Given the description of an element on the screen output the (x, y) to click on. 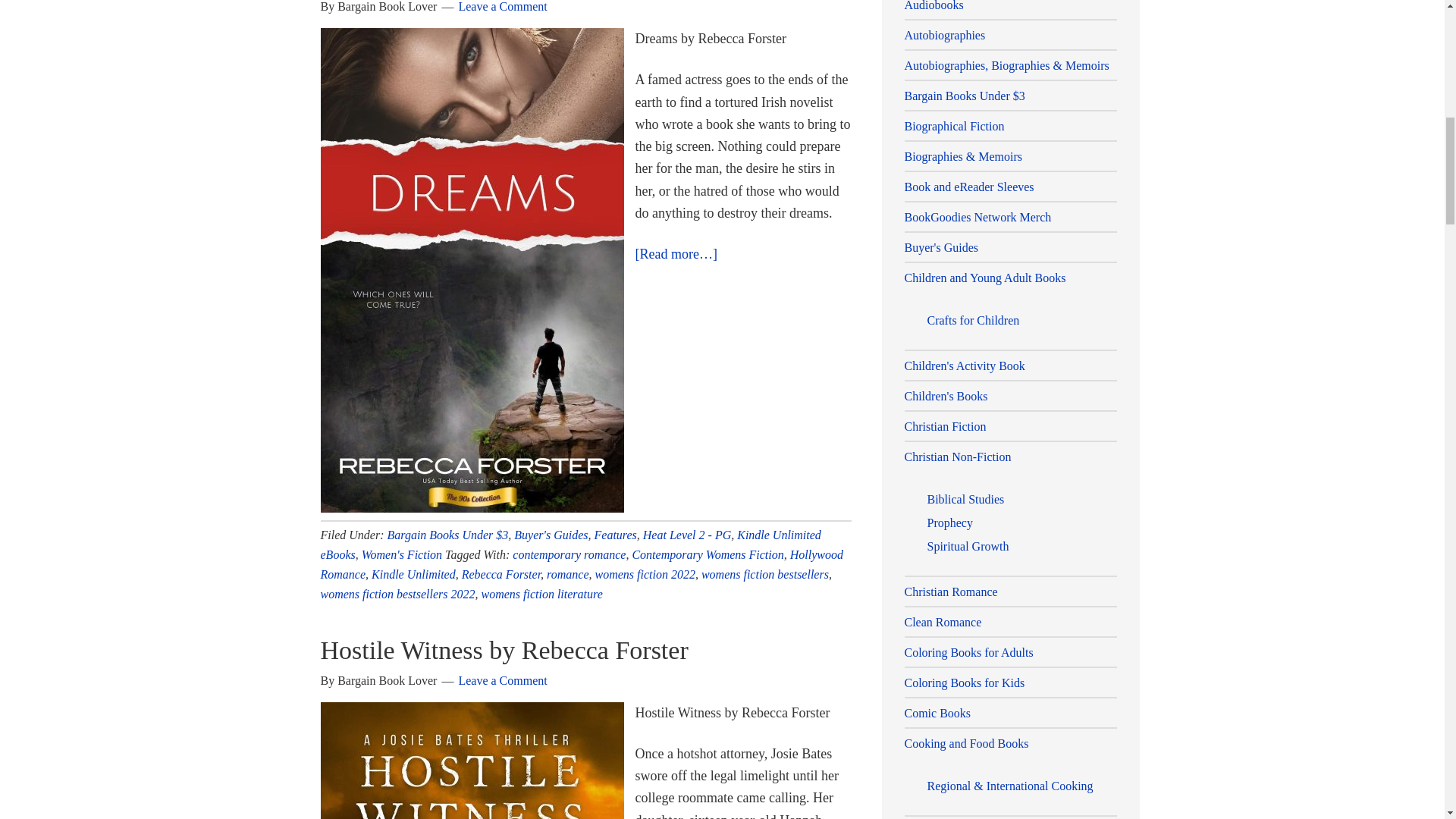
Contemporary Womens Fiction (707, 554)
Women's Fiction (401, 554)
Hollywood Romance (581, 563)
Heat Level 2 - PG (686, 534)
contemporary romance (569, 554)
Buyer's Guides (550, 534)
Kindle Unlimited (413, 574)
Leave a Comment (502, 6)
Kindle Unlimited eBooks (570, 544)
Features (615, 534)
